Given the description of an element on the screen output the (x, y) to click on. 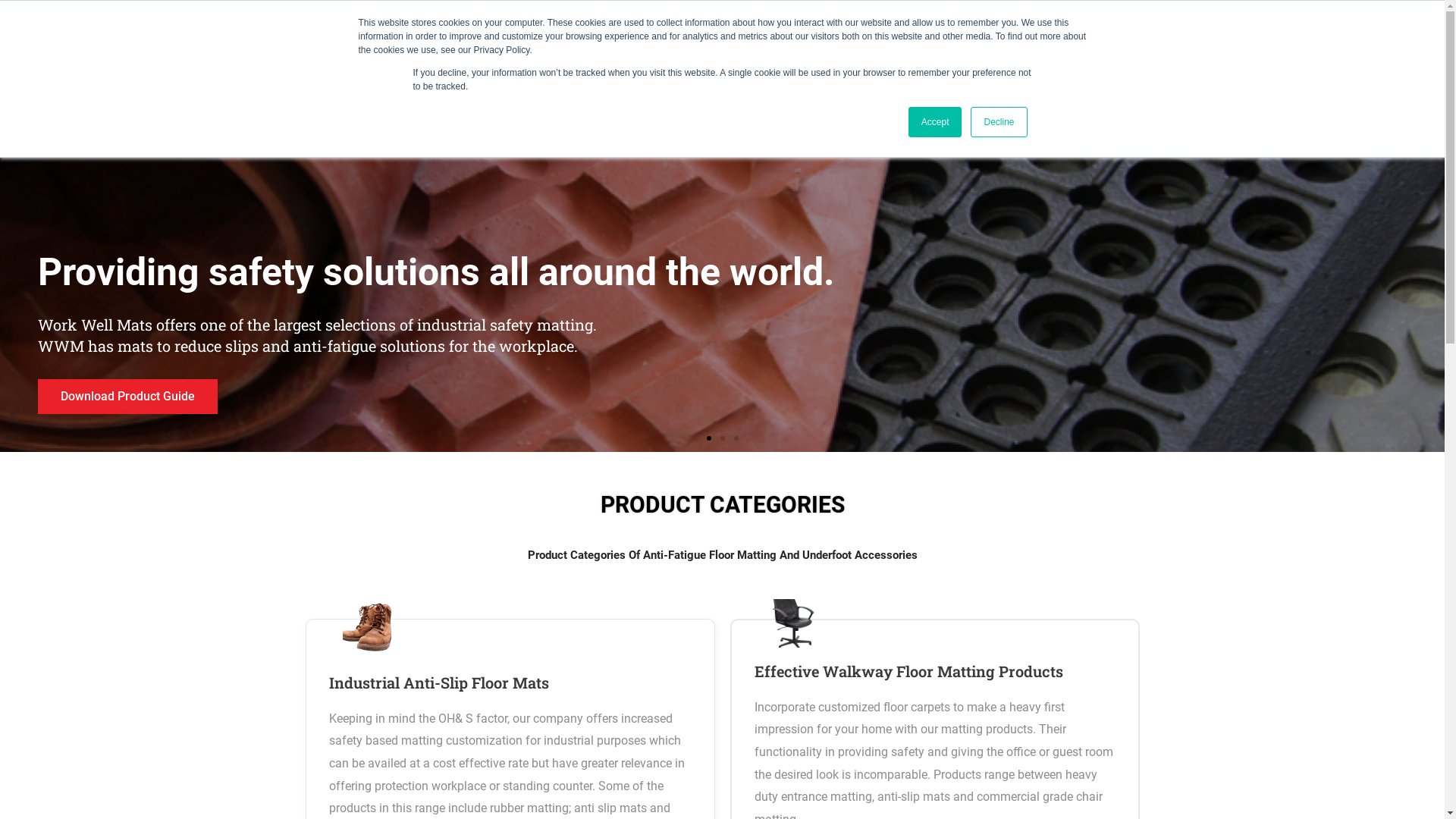
Decline Element type: text (998, 121)
Contact us Element type: text (1348, 36)
About Us Element type: text (1061, 36)
Home Element type: text (992, 36)
Accept Element type: text (935, 121)
Product Guide Element type: text (1249, 36)
Products Element type: text (1147, 36)
Download Product Guide Element type: text (127, 396)
